Given the description of an element on the screen output the (x, y) to click on. 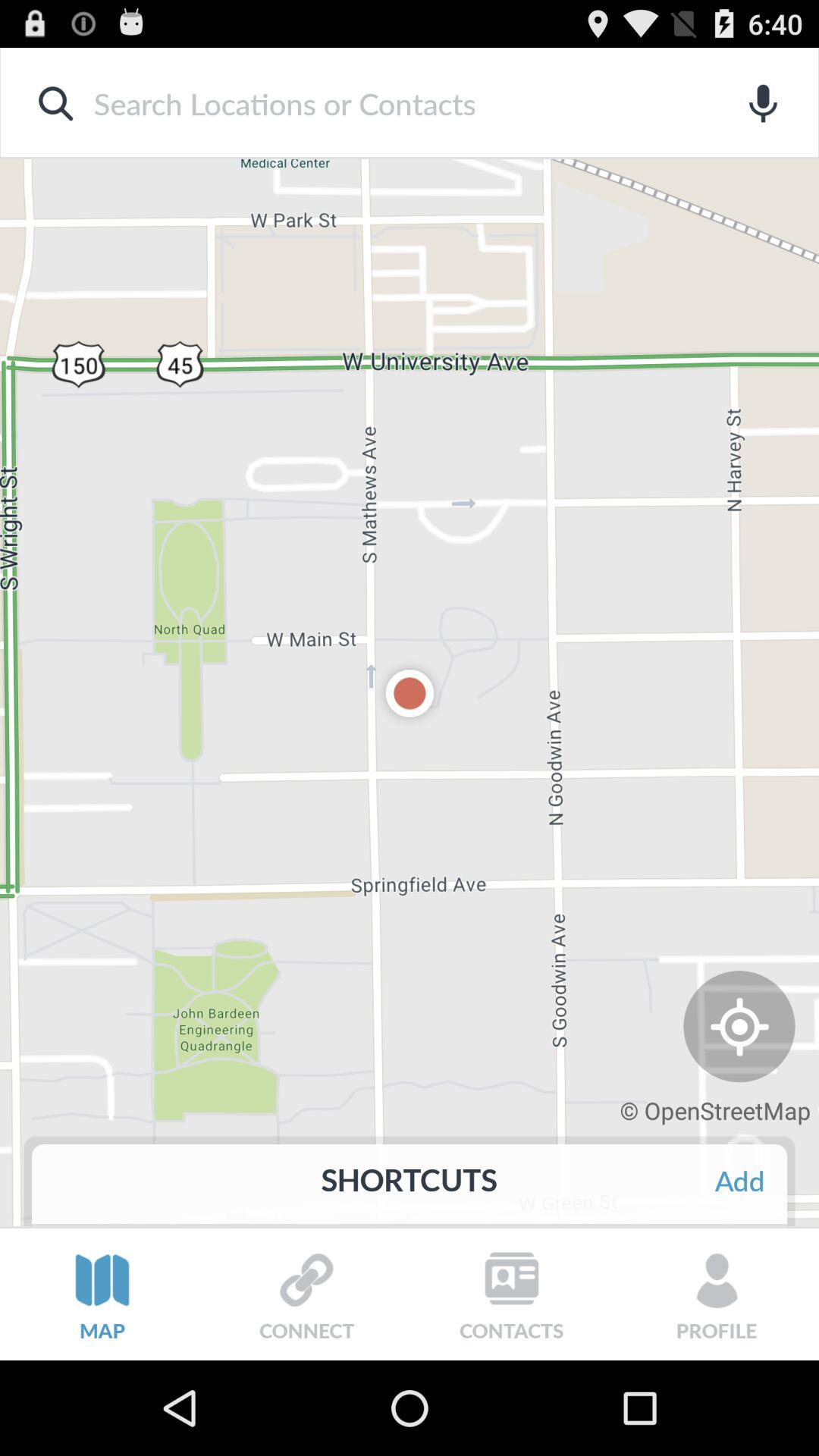
search bar (385, 103)
